Given the description of an element on the screen output the (x, y) to click on. 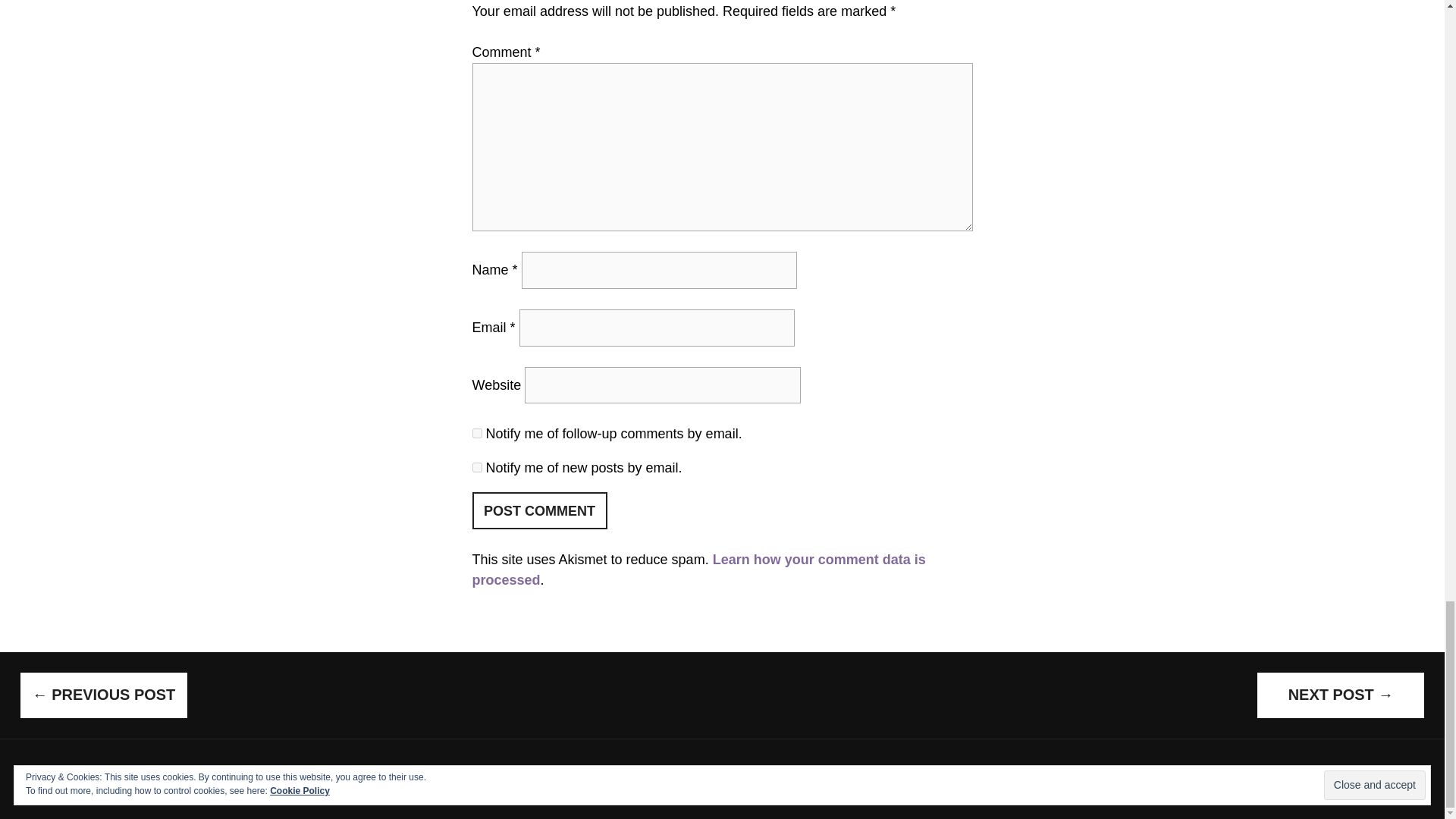
subscribe (476, 433)
Post Comment (539, 510)
subscribe (476, 467)
